Given the description of an element on the screen output the (x, y) to click on. 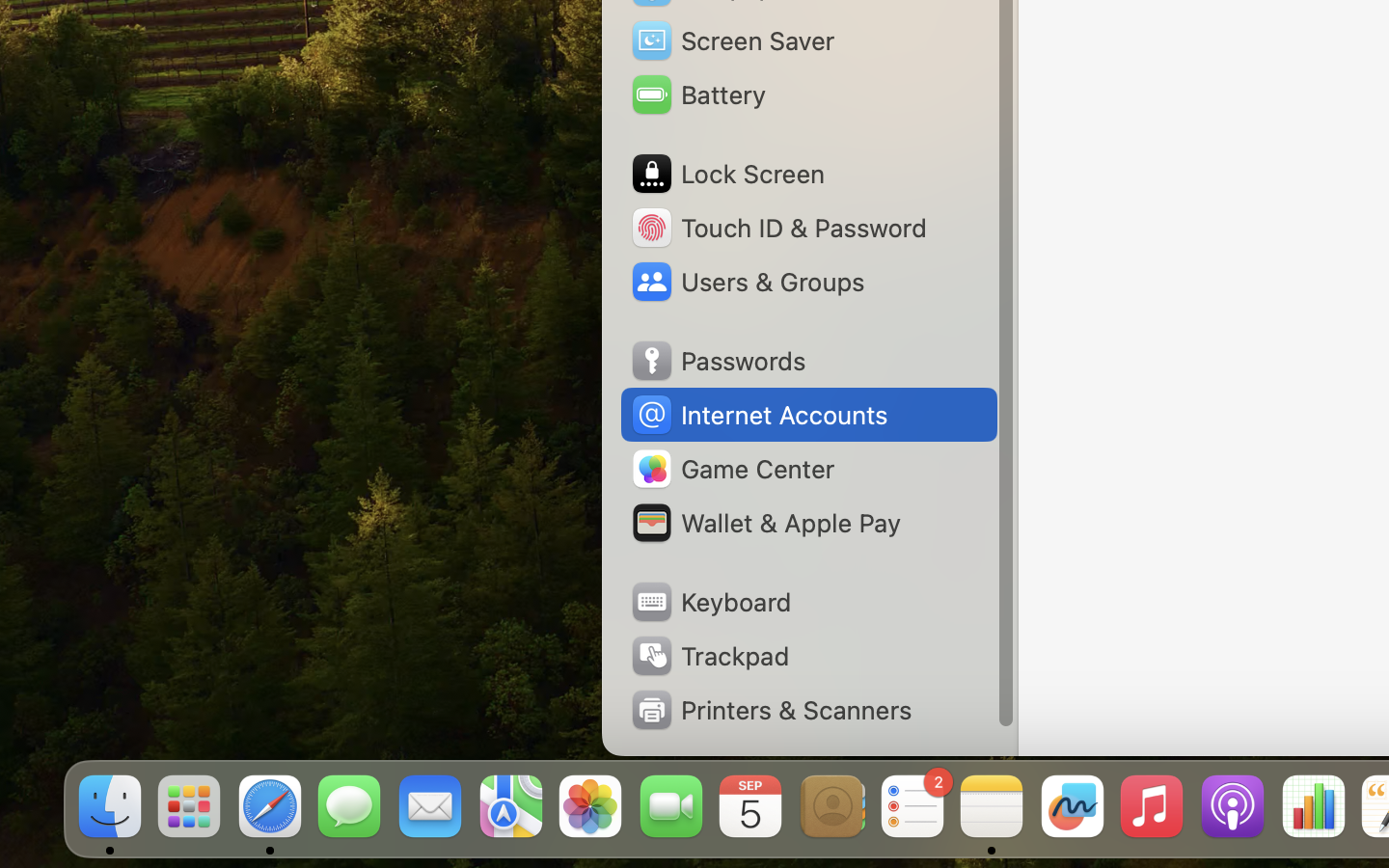
Trackpad Element type: AXStaticText (708, 655)
Screen Saver Element type: AXStaticText (731, 40)
Touch ID & Password Element type: AXStaticText (777, 227)
Wallet & Apple Pay Element type: AXStaticText (764, 522)
Passwords Element type: AXStaticText (717, 360)
